Given the description of an element on the screen output the (x, y) to click on. 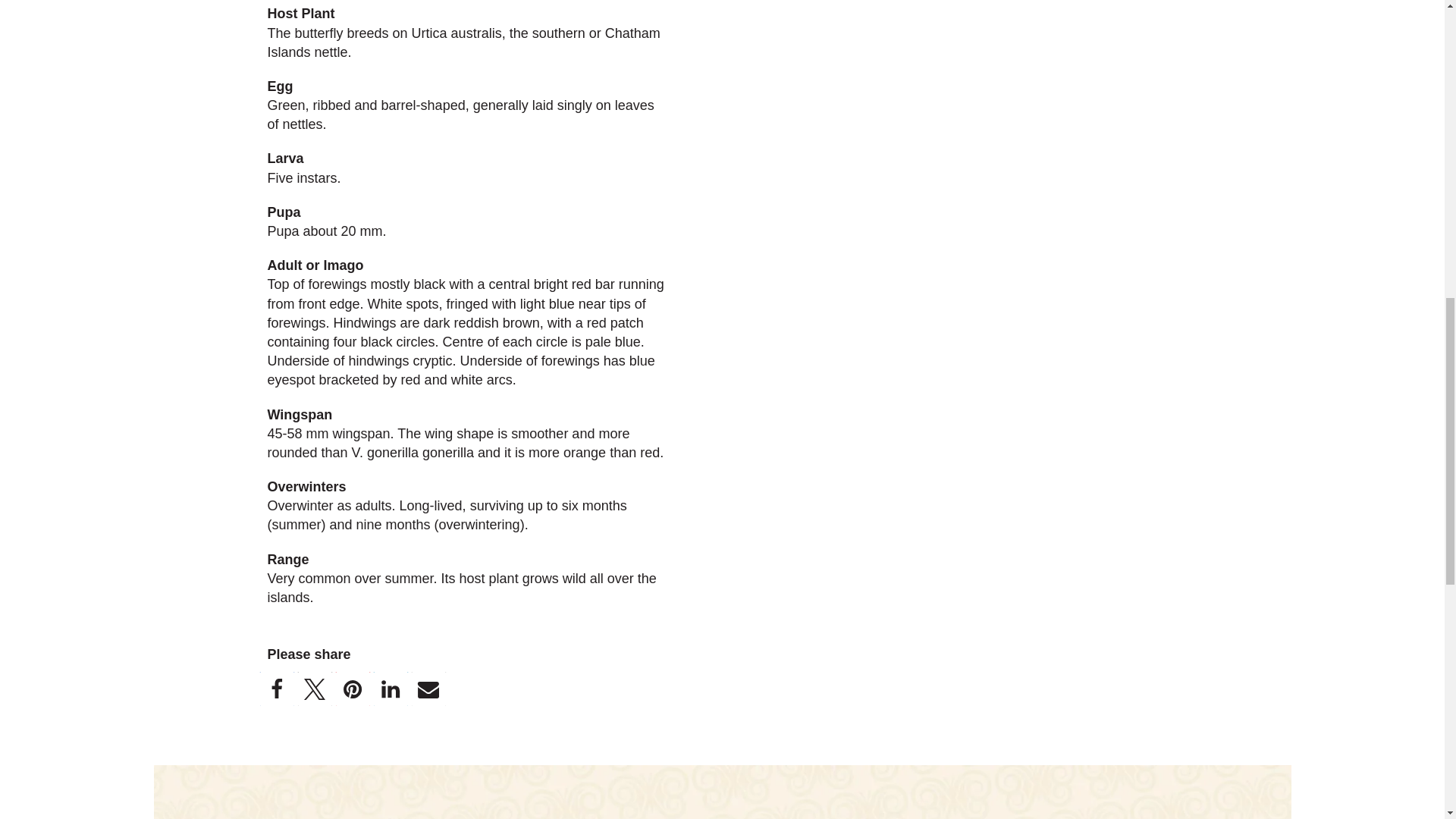
Share on X (314, 688)
Send by email (427, 688)
Pin it on Pinterest (351, 688)
Share on LinkedIn (389, 688)
Share on Facebook (276, 688)
